Given the description of an element on the screen output the (x, y) to click on. 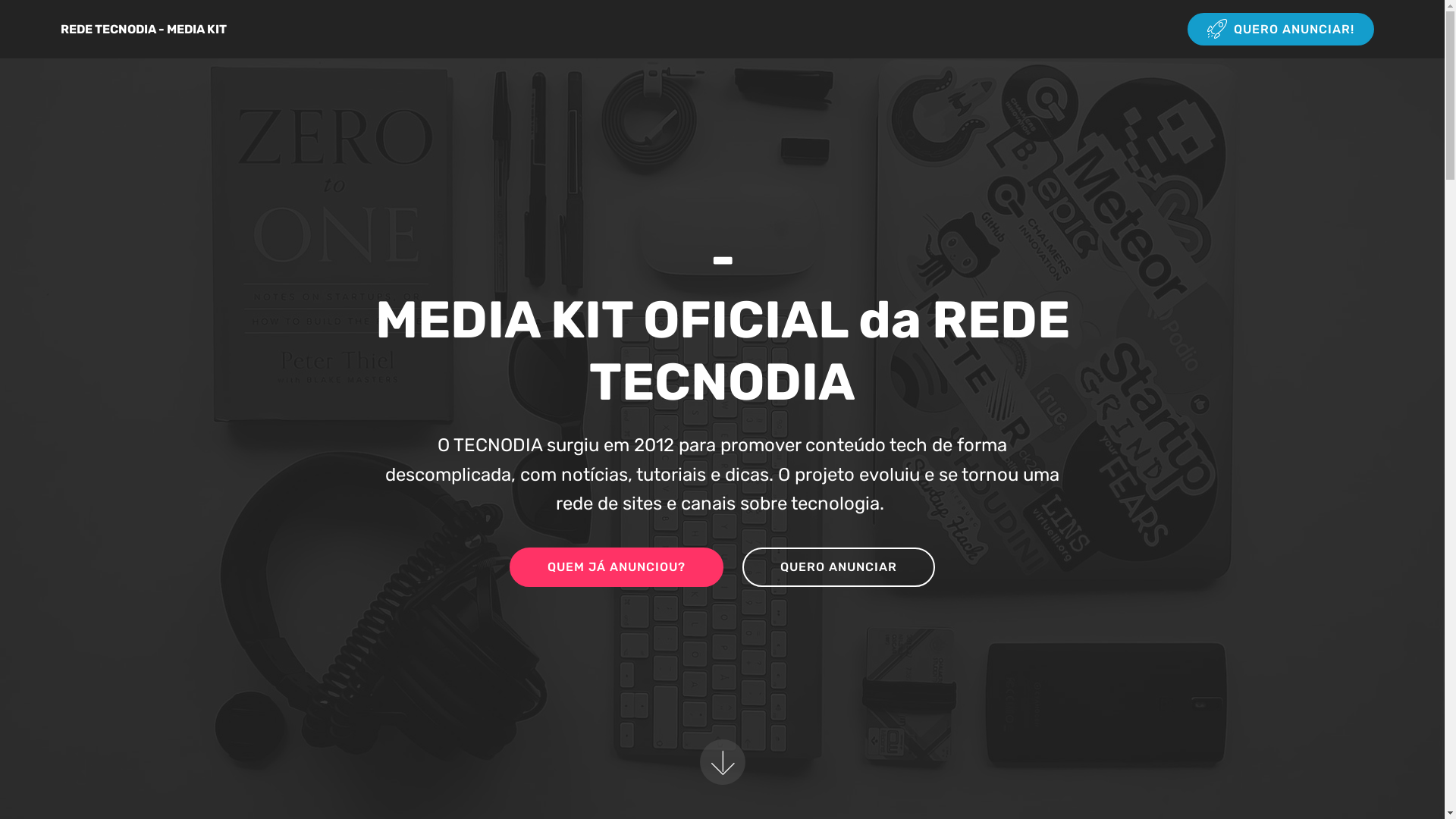
QUERO ANUNCIAR Element type: text (838, 566)
QUERO ANUNCIAR! Element type: text (1280, 28)
REDE TECNODIA - MEDIA KIT Element type: text (155, 28)
